Given the description of an element on the screen output the (x, y) to click on. 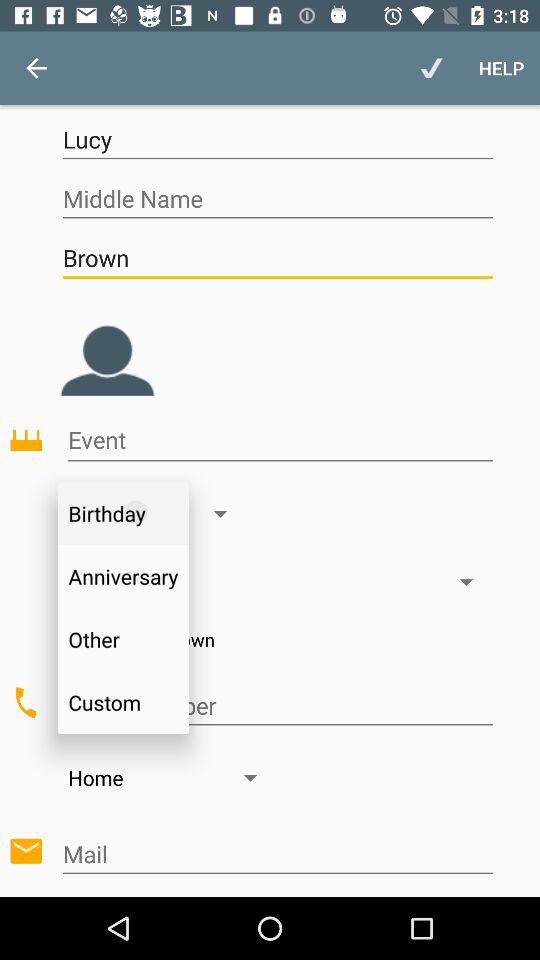
tap item above lucy item (431, 67)
